Given the description of an element on the screen output the (x, y) to click on. 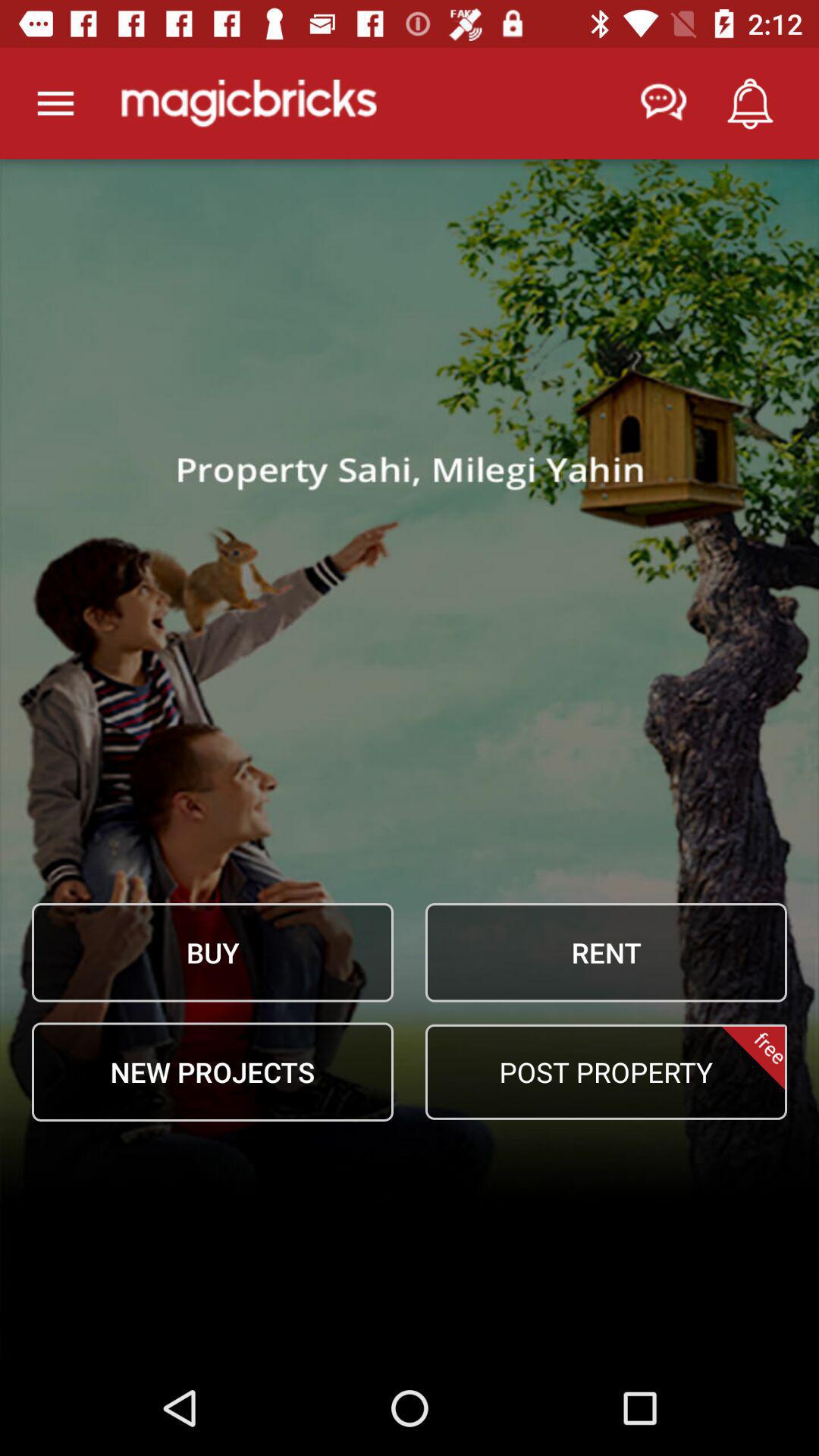
press the new projects (212, 1071)
